Given the description of an element on the screen output the (x, y) to click on. 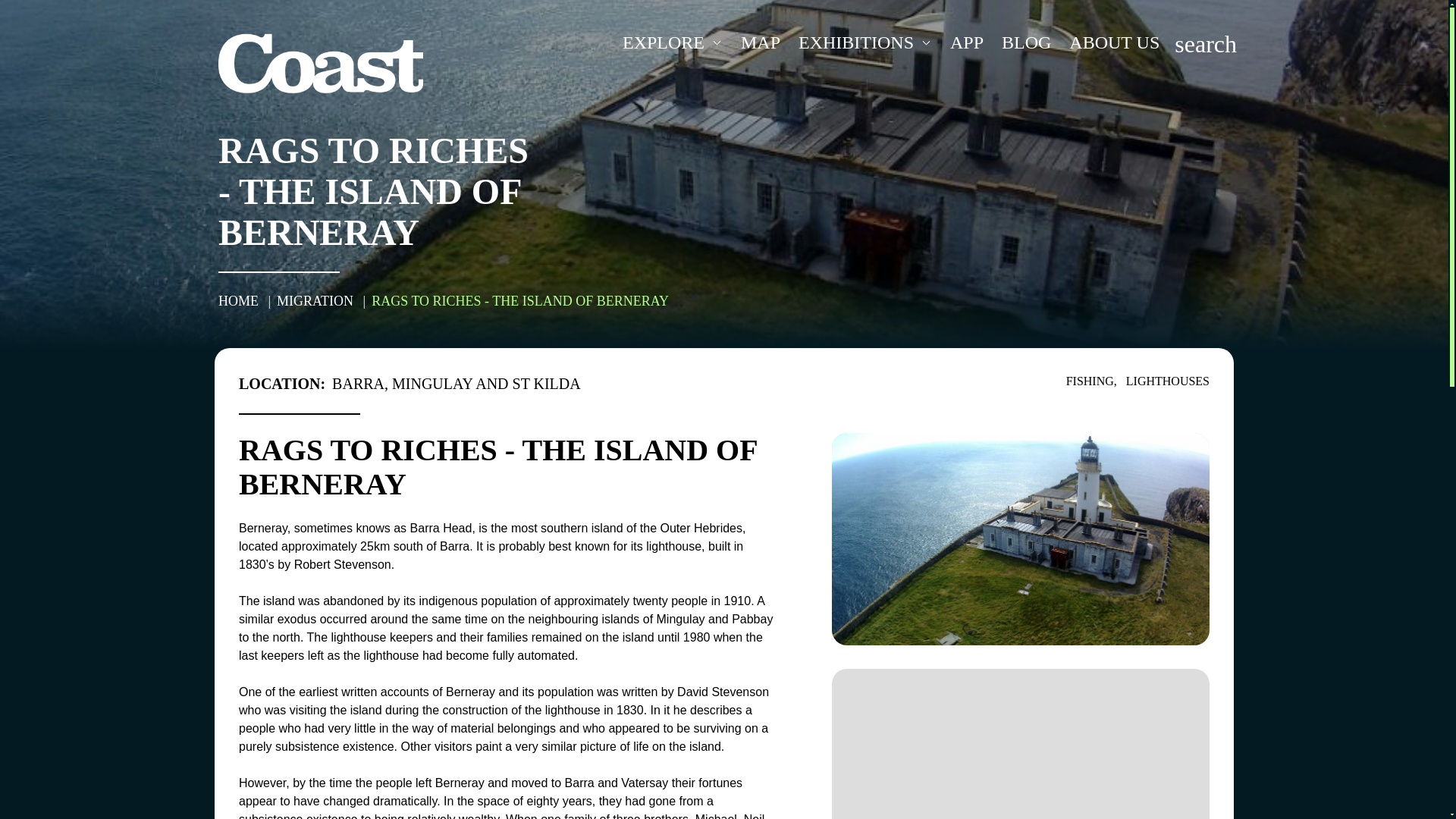
EXHIBITIONS (864, 42)
RAGS TO RICHES - THE ISLAND OF BERNERAY (519, 300)
MIGRATION (316, 300)
search (1206, 42)
ABOUT US (1114, 42)
EXPLORE (672, 42)
HOME (240, 300)
Search (1206, 42)
